Given the description of an element on the screen output the (x, y) to click on. 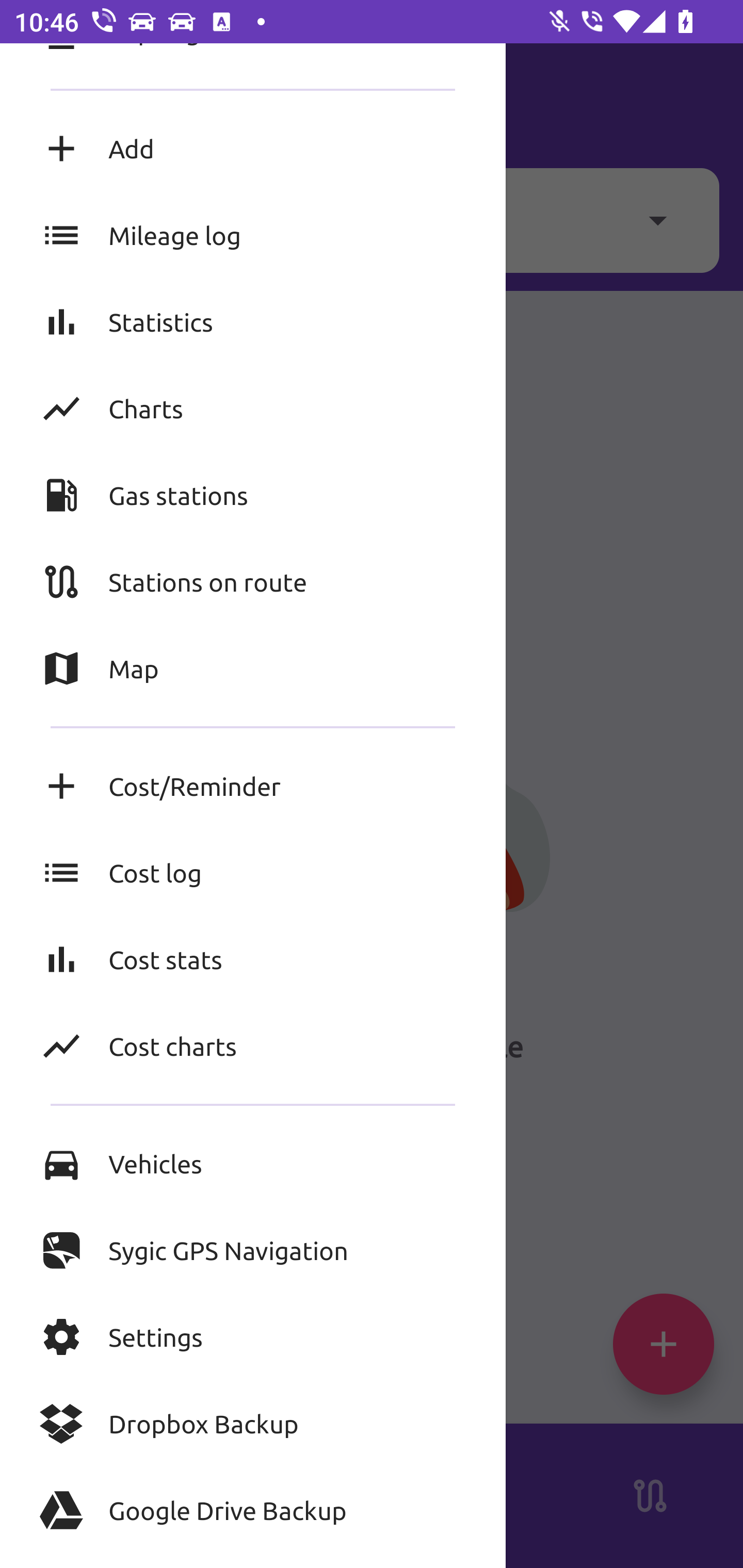
Add (252, 148)
Mileage log (252, 235)
Statistics (252, 322)
Charts (252, 408)
Gas stations (252, 494)
Stations on route (252, 581)
Map (252, 668)
Cost/Reminder (252, 786)
Cost log (252, 872)
Cost stats (252, 958)
Cost charts (252, 1045)
Vehicles (252, 1163)
Sygic GPS Navigation (252, 1250)
Settings (252, 1336)
Dropbox Backup (252, 1423)
Google Drive Backup (252, 1510)
